Given the description of an element on the screen output the (x, y) to click on. 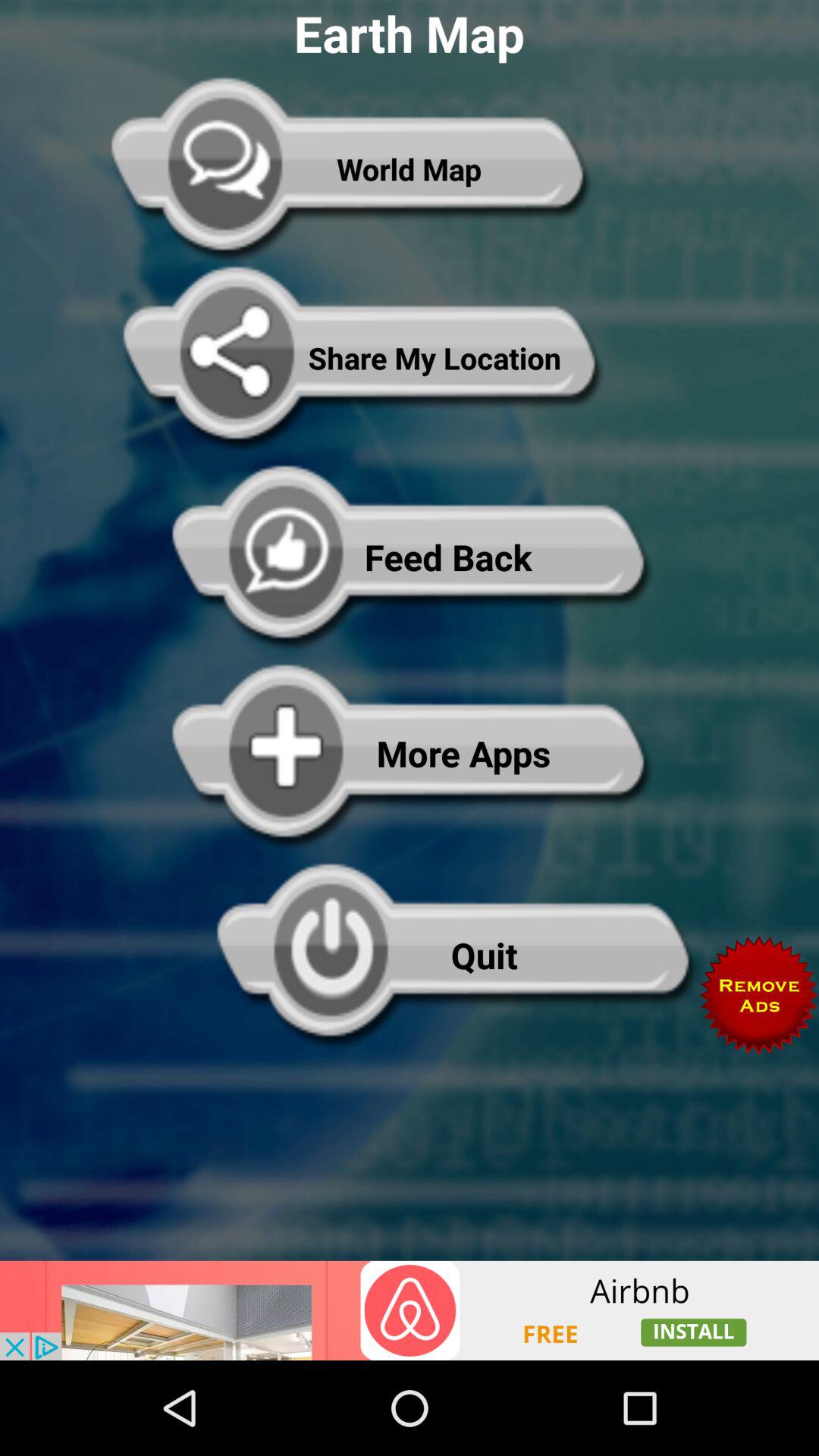
open advertisement (409, 1310)
